Given the description of an element on the screen output the (x, y) to click on. 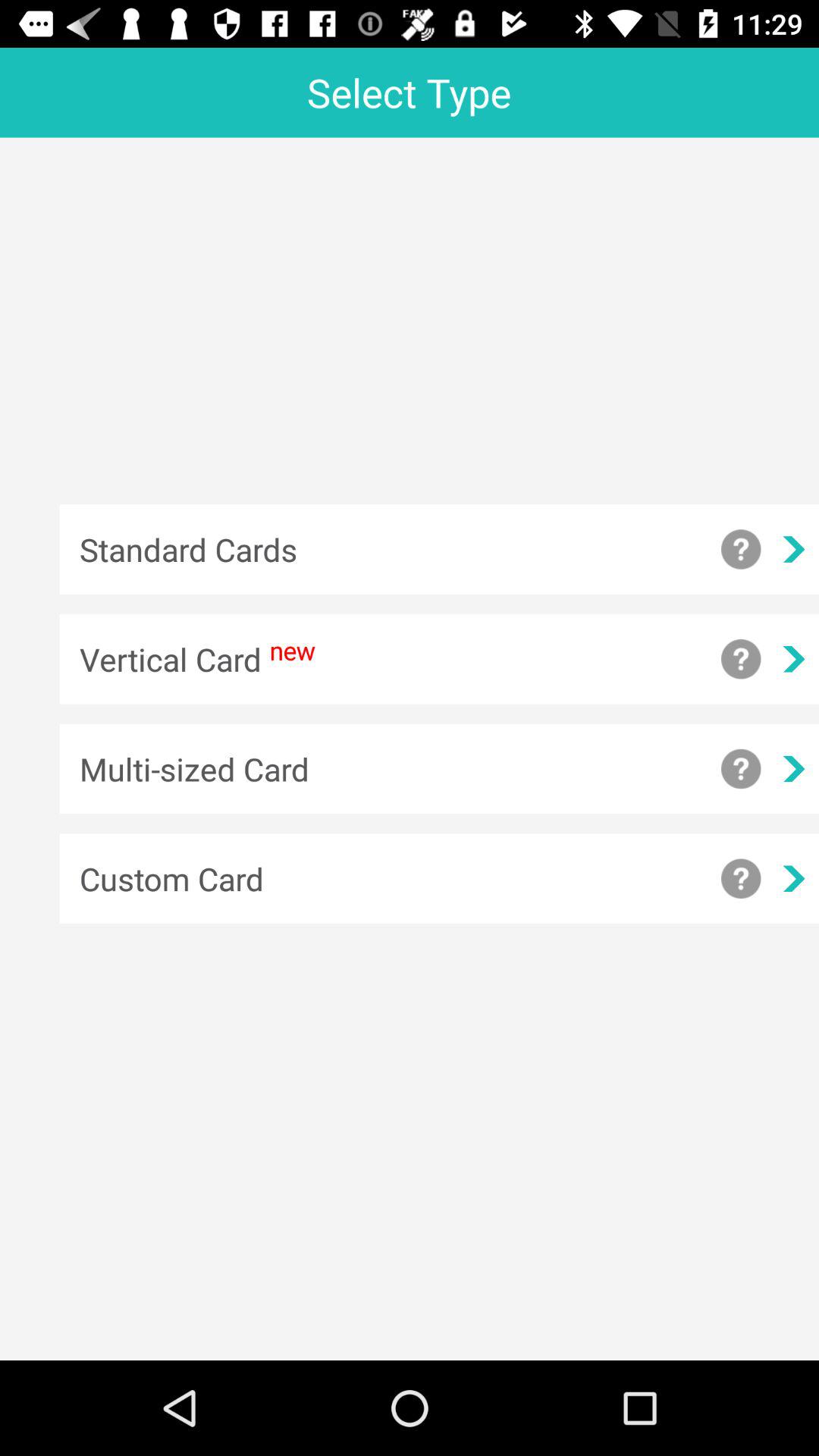
help option (740, 659)
